Given the description of an element on the screen output the (x, y) to click on. 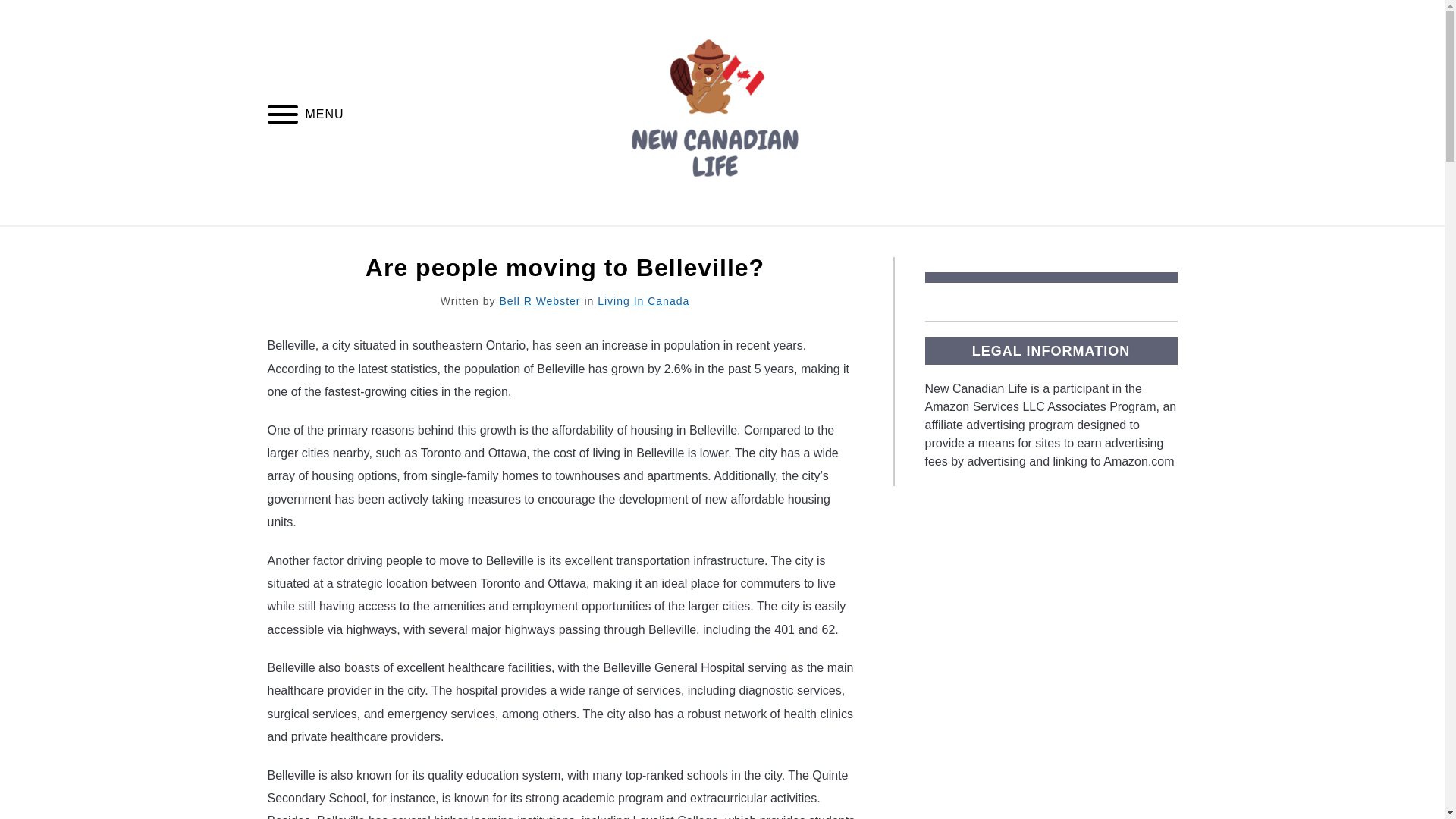
FREE CREDIT SCORE (551, 243)
FIND YOUR NOC FOR FREE (359, 243)
MOVING (949, 243)
Living In Canada (642, 300)
Bell R Webster (539, 300)
MENU (282, 116)
Search (1172, 112)
PROVINCES (849, 243)
STUDYING (1140, 243)
WORKING (1041, 243)
LIVING IN CANADA (715, 243)
